Given the description of an element on the screen output the (x, y) to click on. 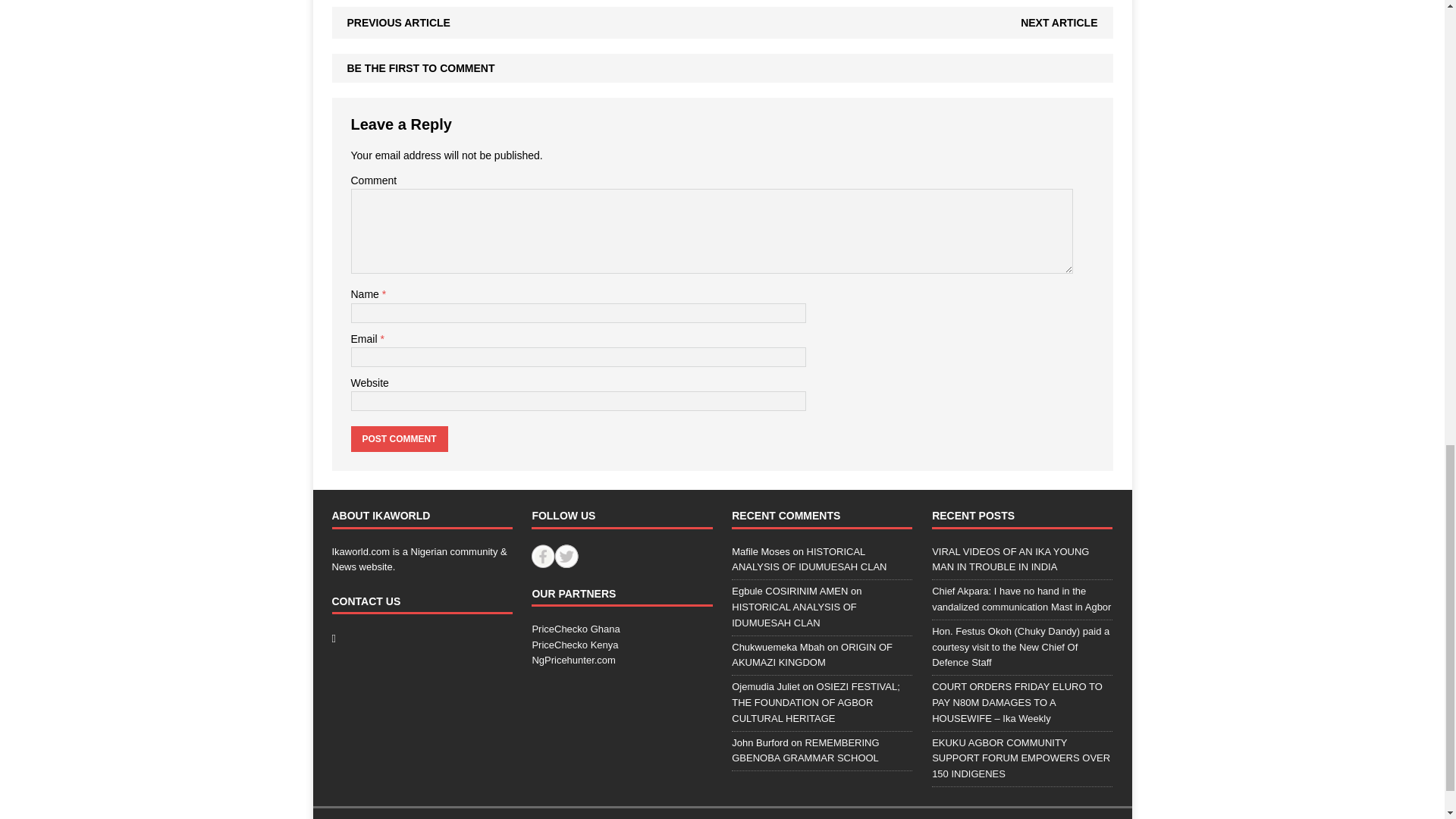
PREVIOUS ARTICLE (398, 22)
NEXT ARTICLE (1058, 22)
PriceChecko Kenya (574, 644)
HISTORICAL ANALYSIS OF IDUMUESAH CLAN (794, 614)
NgPricehunter.com (573, 659)
Post Comment (398, 438)
HISTORICAL ANALYSIS OF IDUMUESAH CLAN (809, 559)
PriceChecko Ghana (575, 628)
Post Comment (398, 438)
